Given the description of an element on the screen output the (x, y) to click on. 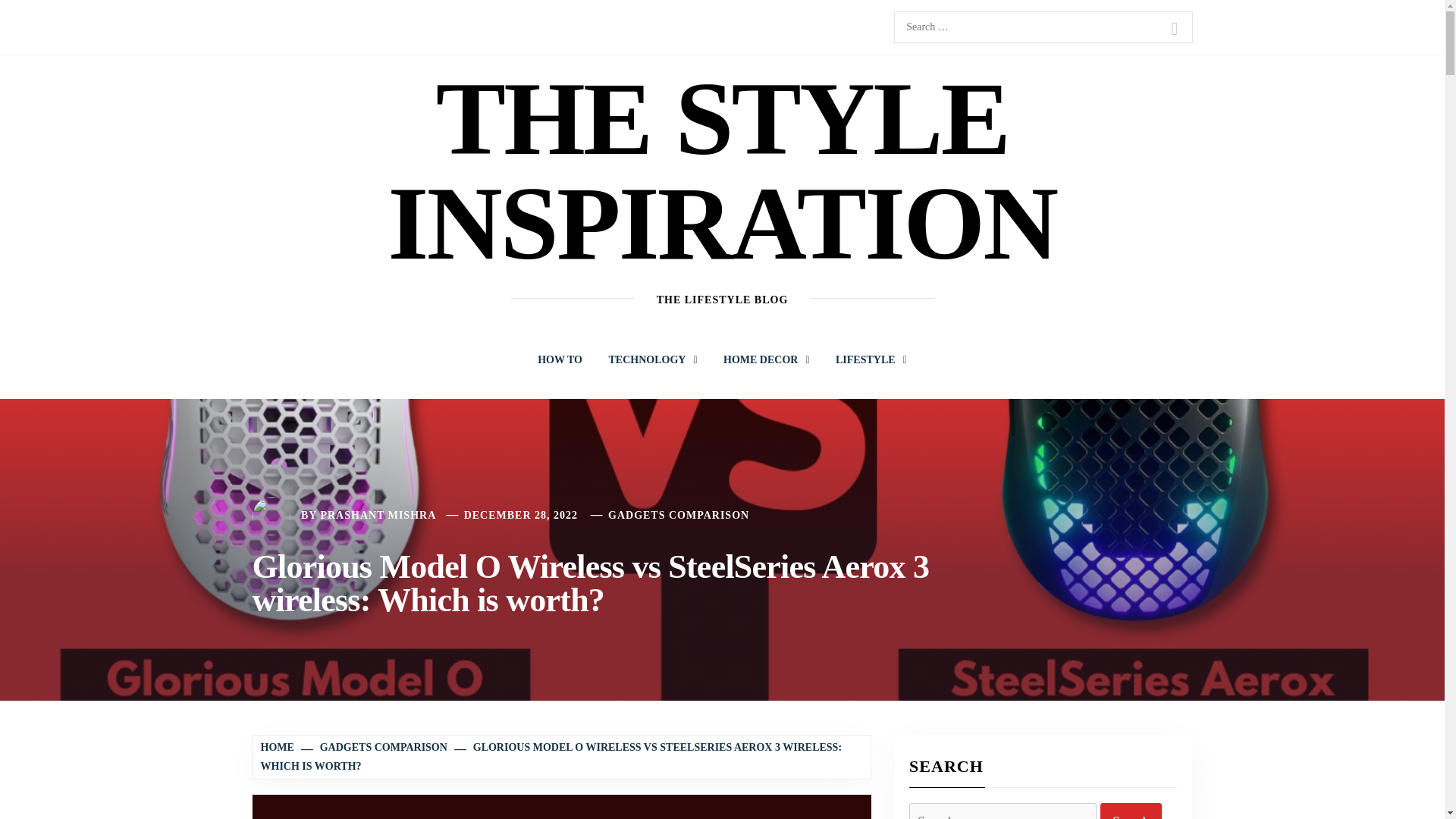
Search (1174, 28)
LIFESTYLE (871, 359)
Search (1174, 28)
GADGETS COMPARISON (374, 747)
DECEMBER 28, 2022 (521, 514)
Search (1174, 28)
Search (1130, 811)
GADGETS COMPARISON (678, 514)
PRASHANT MISHRA (377, 514)
HOME DECOR (766, 359)
Search (1130, 811)
HOME (279, 747)
TECHNOLOGY (651, 359)
